Given the description of an element on the screen output the (x, y) to click on. 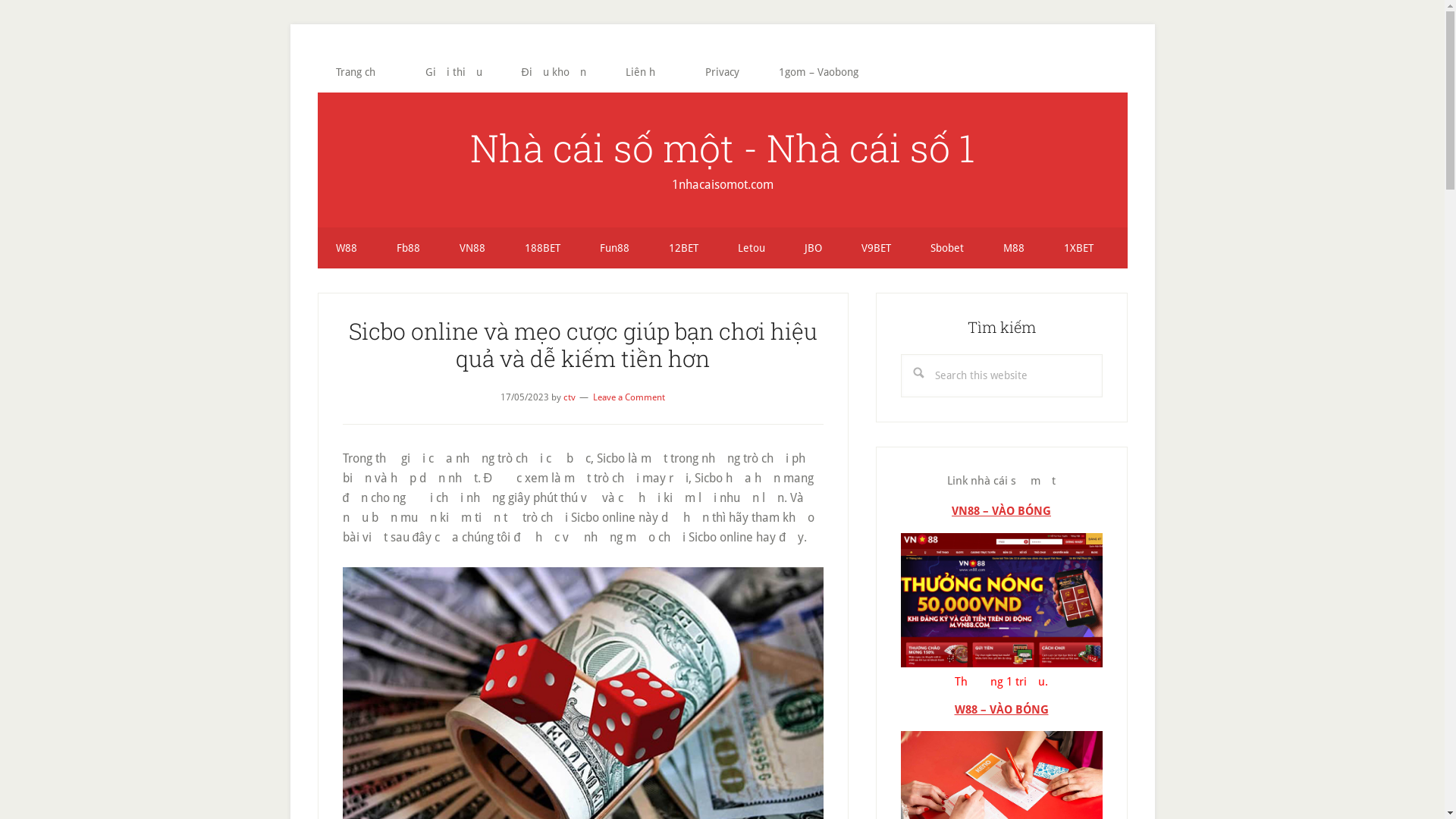
188BET Element type: text (542, 247)
Sbobet Element type: text (946, 247)
1XBET Element type: text (1077, 247)
12BET Element type: text (683, 247)
VN88 Element type: text (472, 247)
Search Element type: text (1102, 353)
Fun88 Element type: text (613, 247)
V9BET Element type: text (876, 247)
Skip to secondary menu Element type: text (0, 0)
M88 Element type: text (1012, 247)
VN88 Element type: hover (1001, 599)
JBO Element type: text (812, 247)
Privacy Element type: text (722, 71)
Letou Element type: text (750, 247)
ctv Element type: text (569, 397)
W88 Element type: text (345, 247)
Fb88 Element type: text (407, 247)
Leave a Comment Element type: text (629, 397)
